Given the description of an element on the screen output the (x, y) to click on. 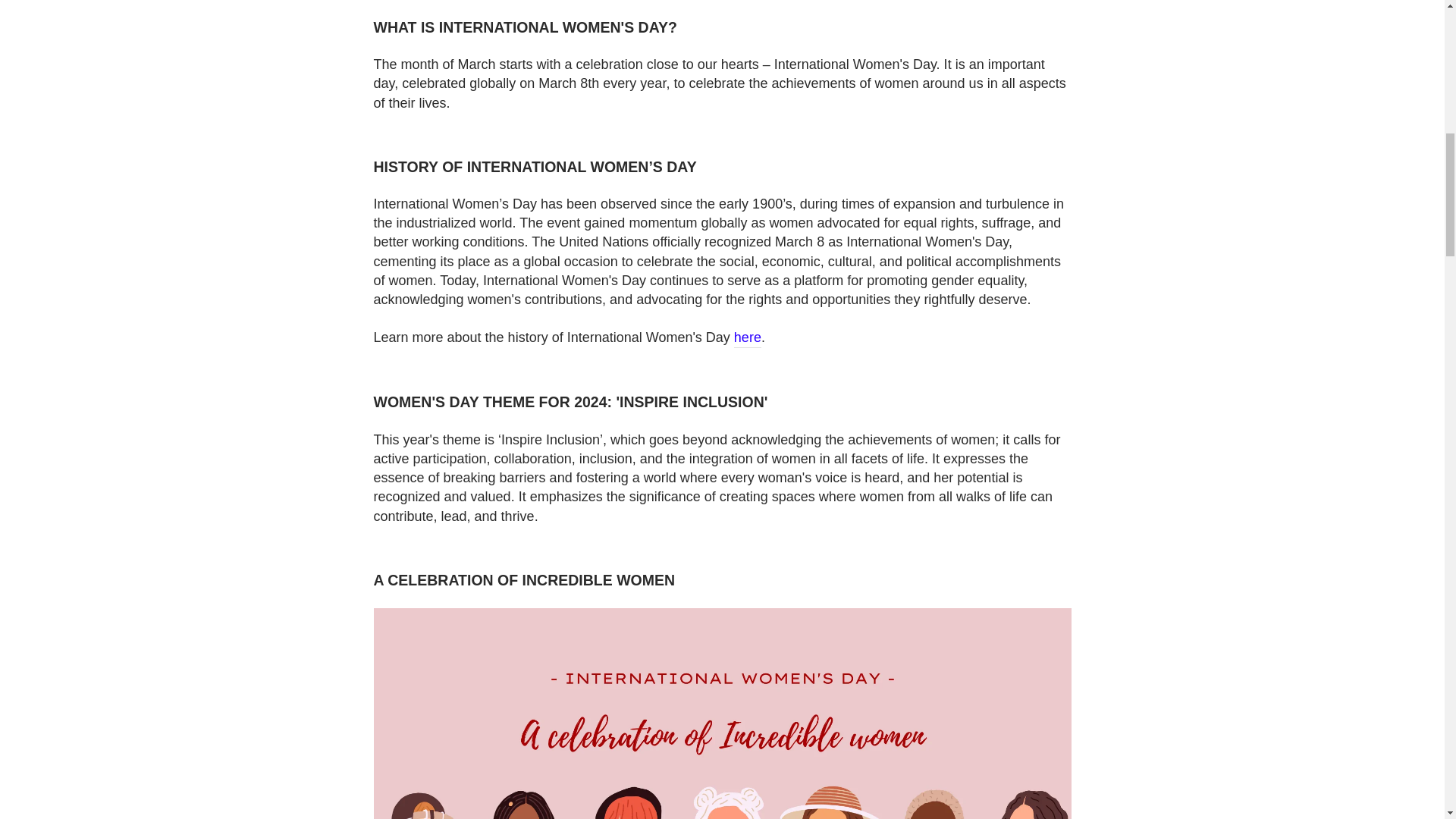
History of International Women's Day (747, 338)
